Given the description of an element on the screen output the (x, y) to click on. 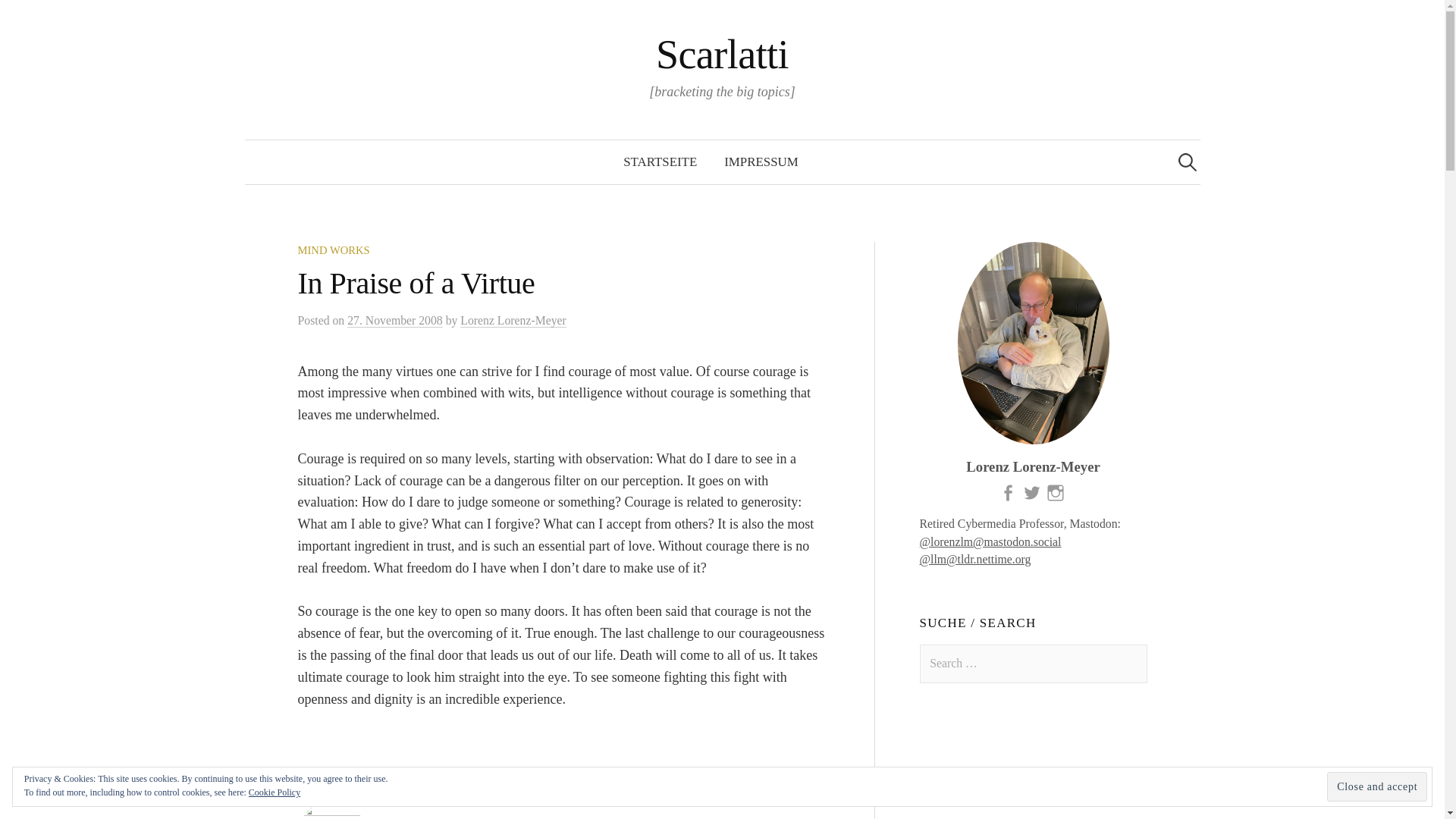
MIND WORKS (333, 250)
STARTSEITE (660, 162)
Search (40, 18)
Scarlatti (722, 53)
Lorenz Lorenz-Meyer (513, 320)
Search (18, 18)
IMPRESSUM (761, 162)
View all posts by Lorenz Lorenz-Meyer (513, 320)
27. November 2008 (394, 320)
